Given the description of an element on the screen output the (x, y) to click on. 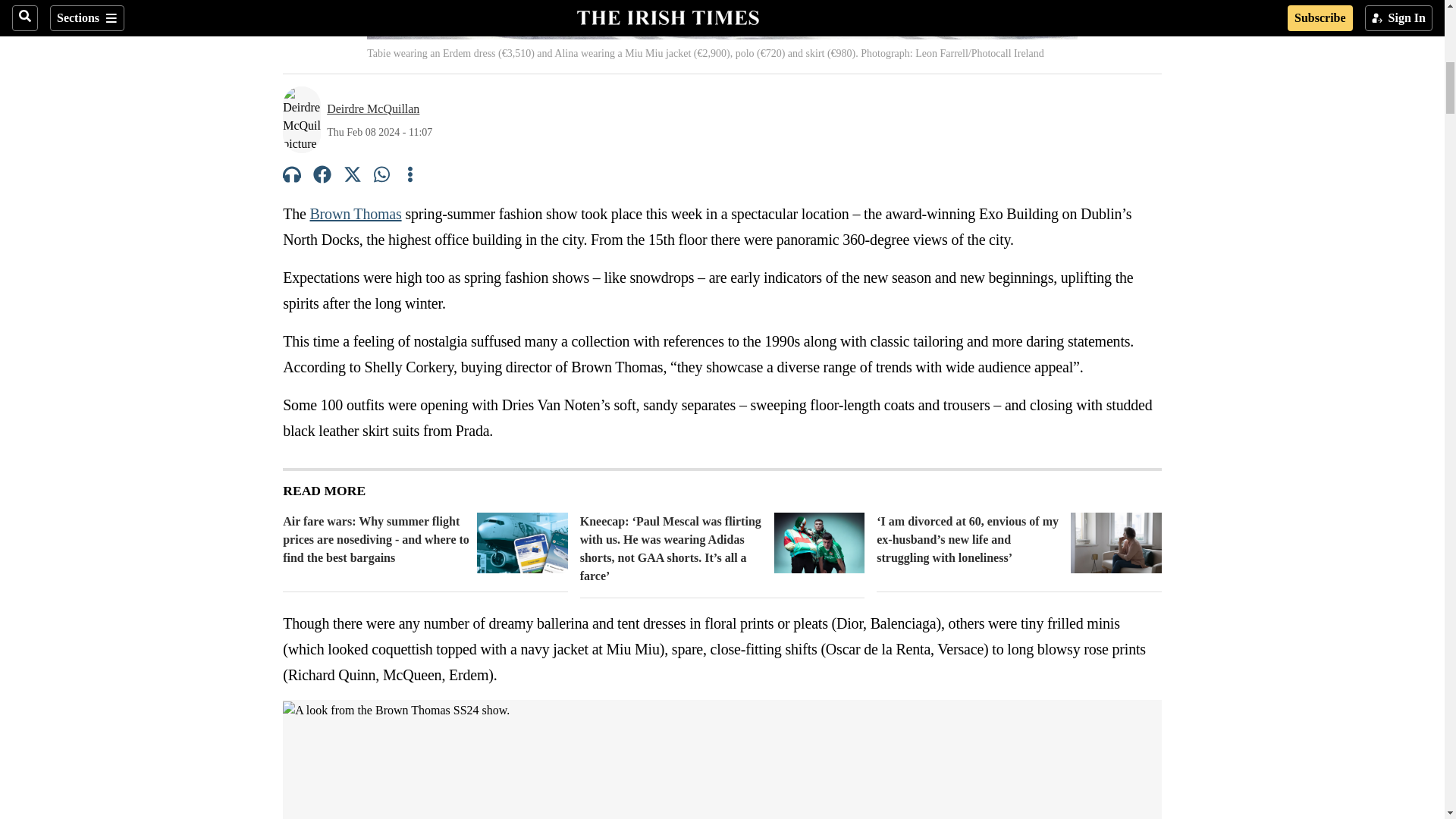
X (352, 177)
Facebook (322, 177)
WhatsApp (382, 177)
